Given the description of an element on the screen output the (x, y) to click on. 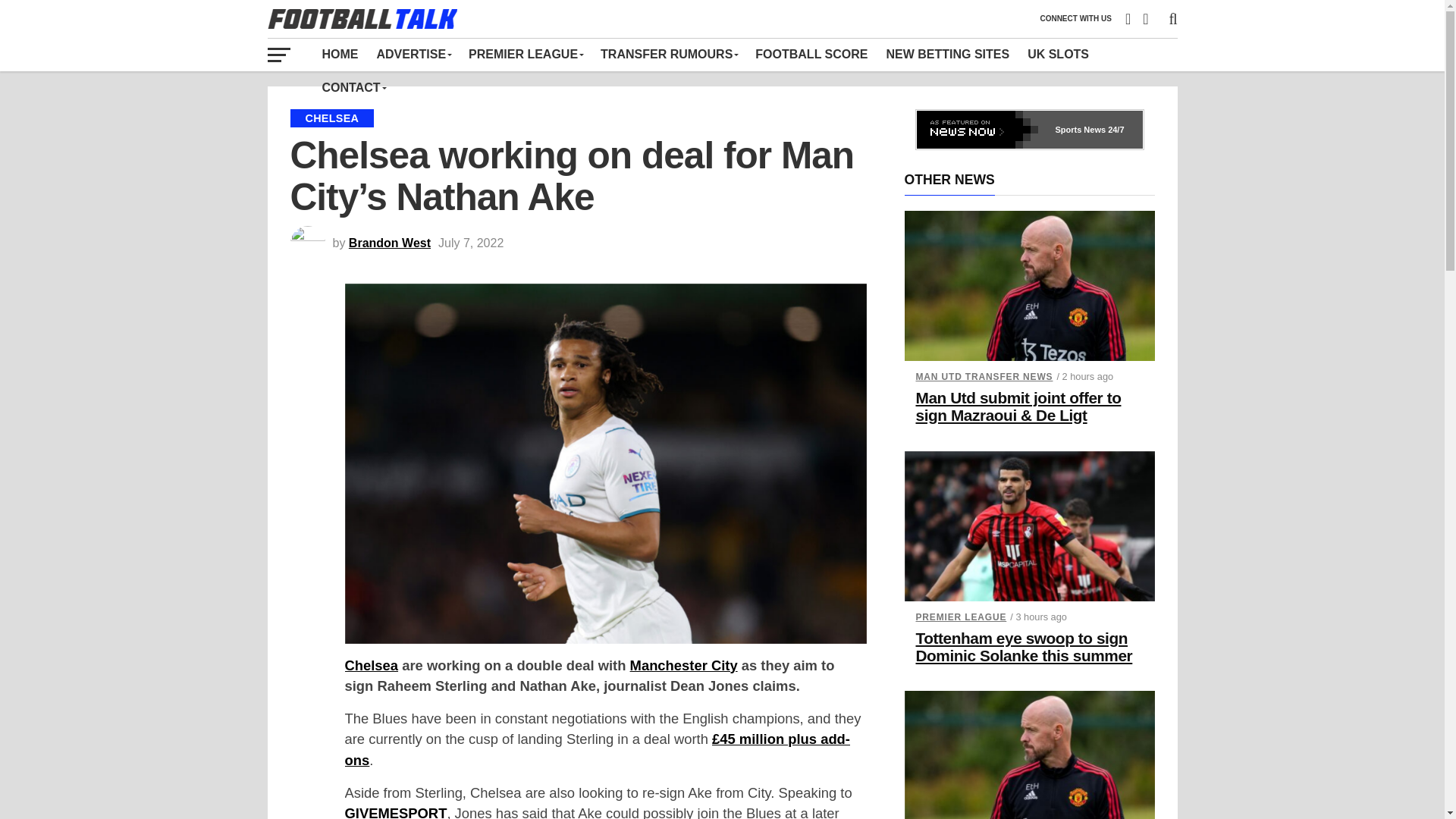
PREMIER LEAGUE (525, 54)
HOME (339, 54)
Advertise on Football-Talk (413, 54)
Premier League News (525, 54)
ADVERTISE (413, 54)
